Given the description of an element on the screen output the (x, y) to click on. 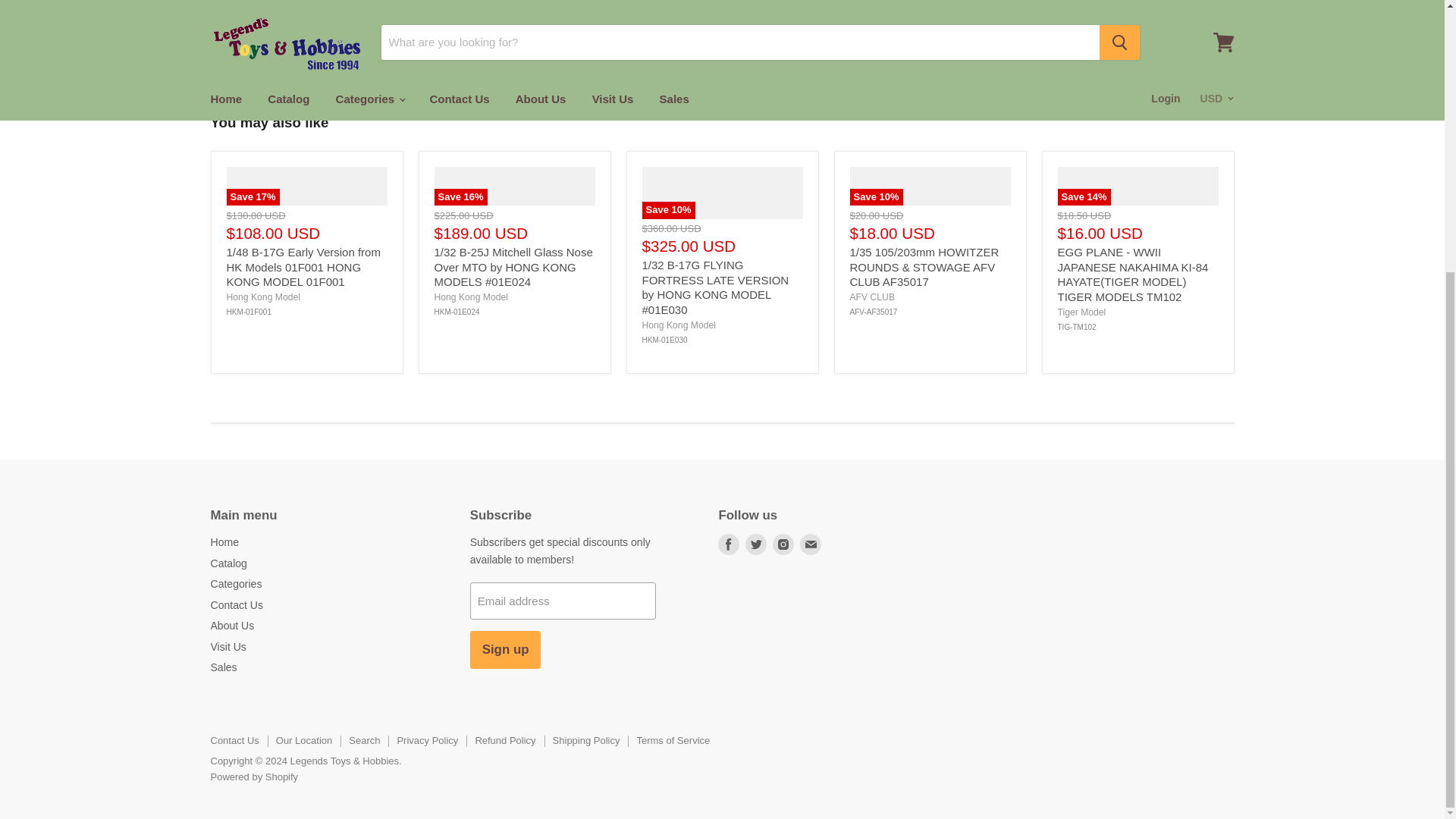
E-mail (810, 543)
Instagram (783, 543)
Twitter (756, 543)
Facebook (728, 543)
